Given the description of an element on the screen output the (x, y) to click on. 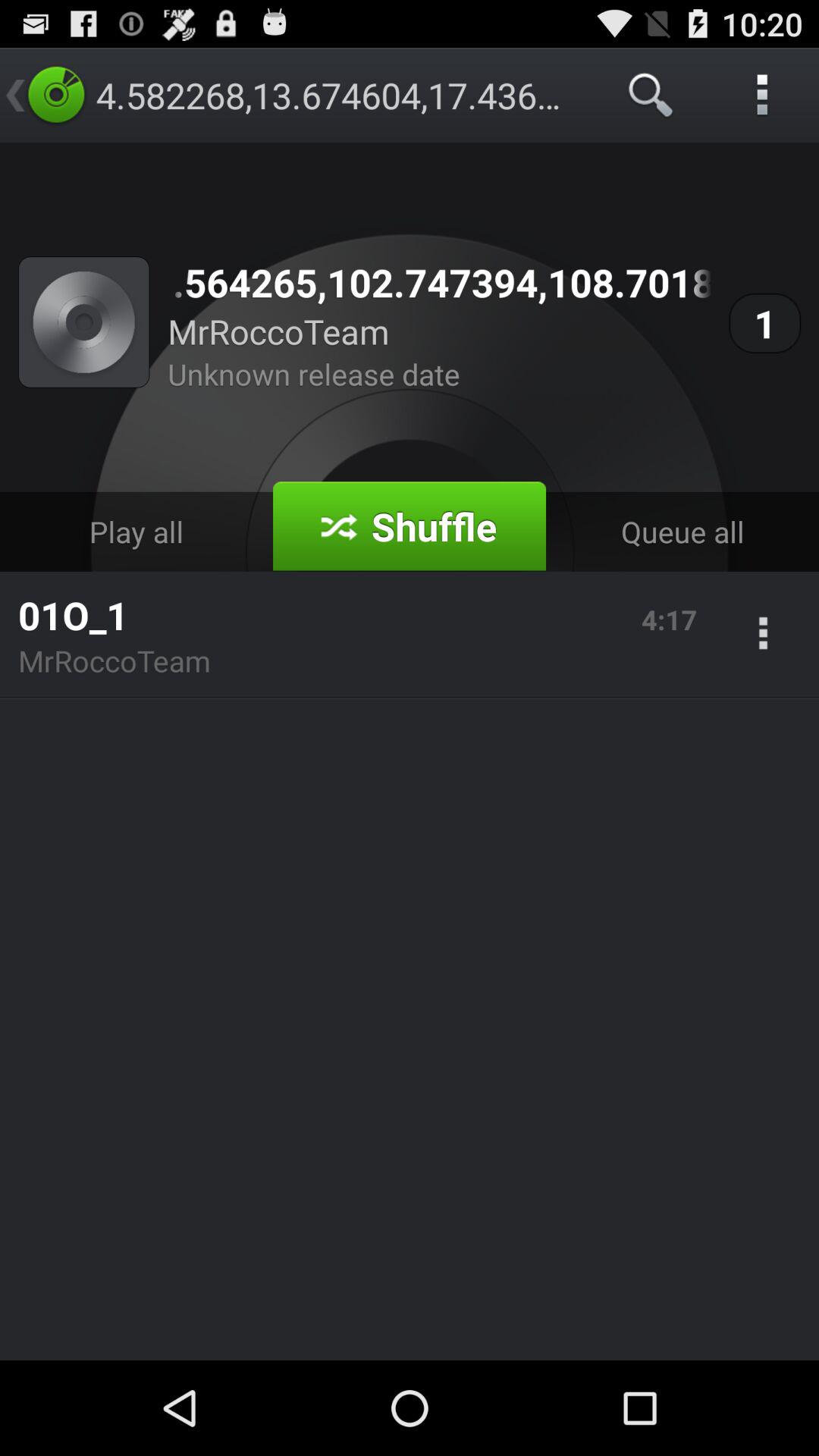
turn off the app next to the 4:17 app (763, 634)
